Given the description of an element on the screen output the (x, y) to click on. 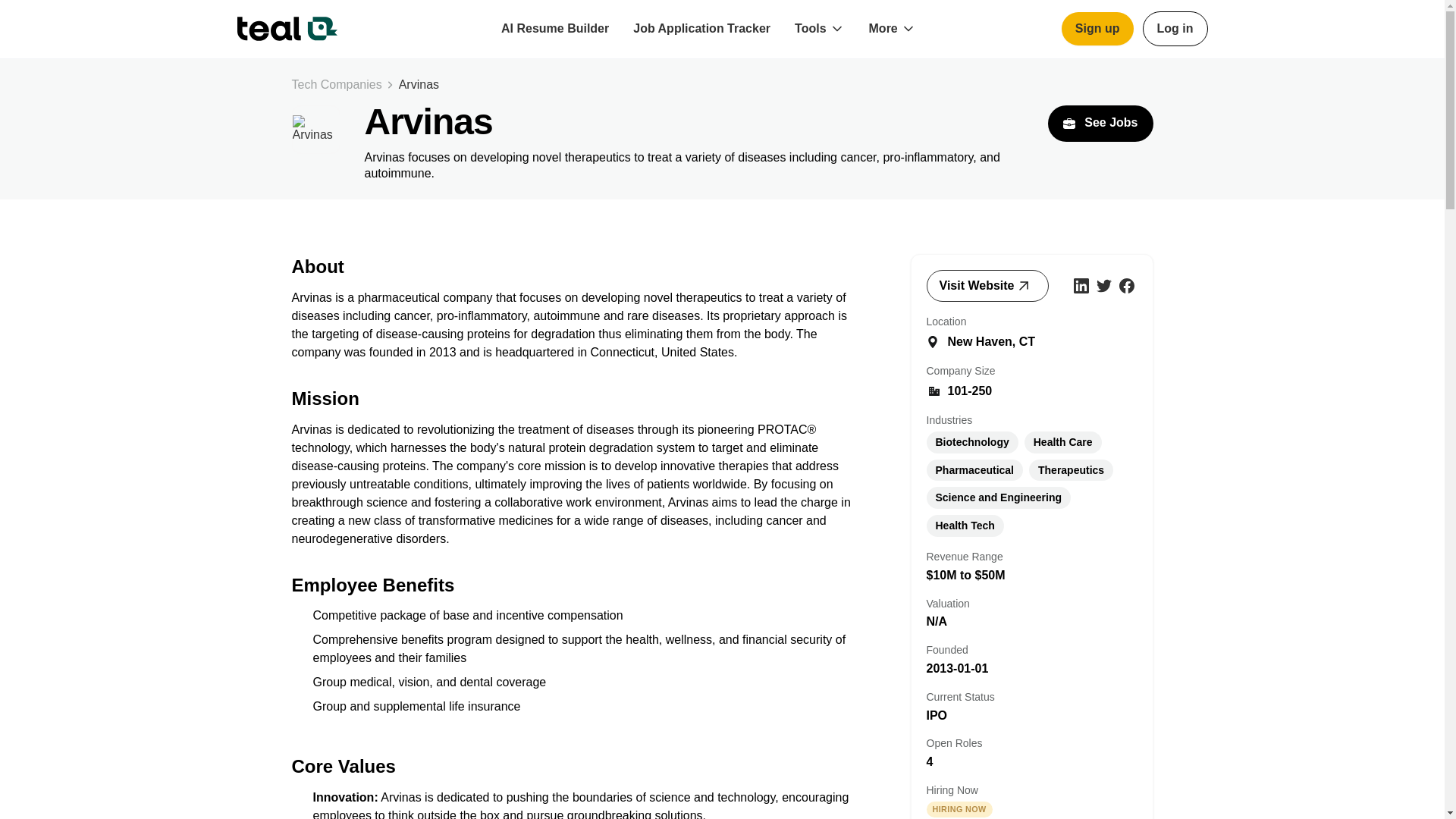
See Jobs (1100, 123)
AI Resume Builder (555, 29)
Log in (1175, 28)
Tools (809, 28)
Arvinas (418, 84)
Job Application Tracker (702, 29)
Sign up (1097, 28)
Tech Companies (336, 84)
